Given the description of an element on the screen output the (x, y) to click on. 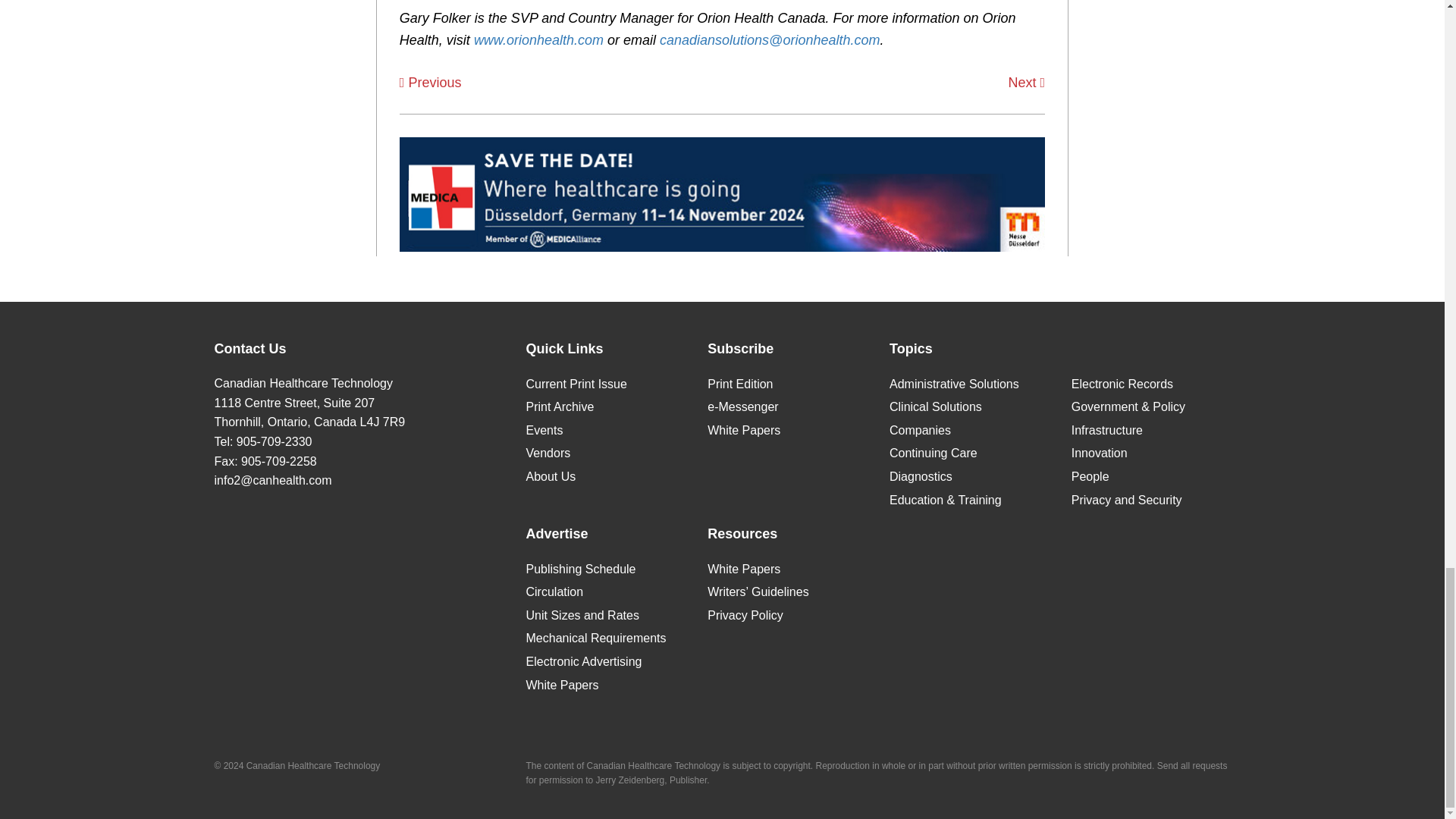
www.orionhealth.com (539, 39)
Previous (429, 82)
Next (1027, 82)
